Given the description of an element on the screen output the (x, y) to click on. 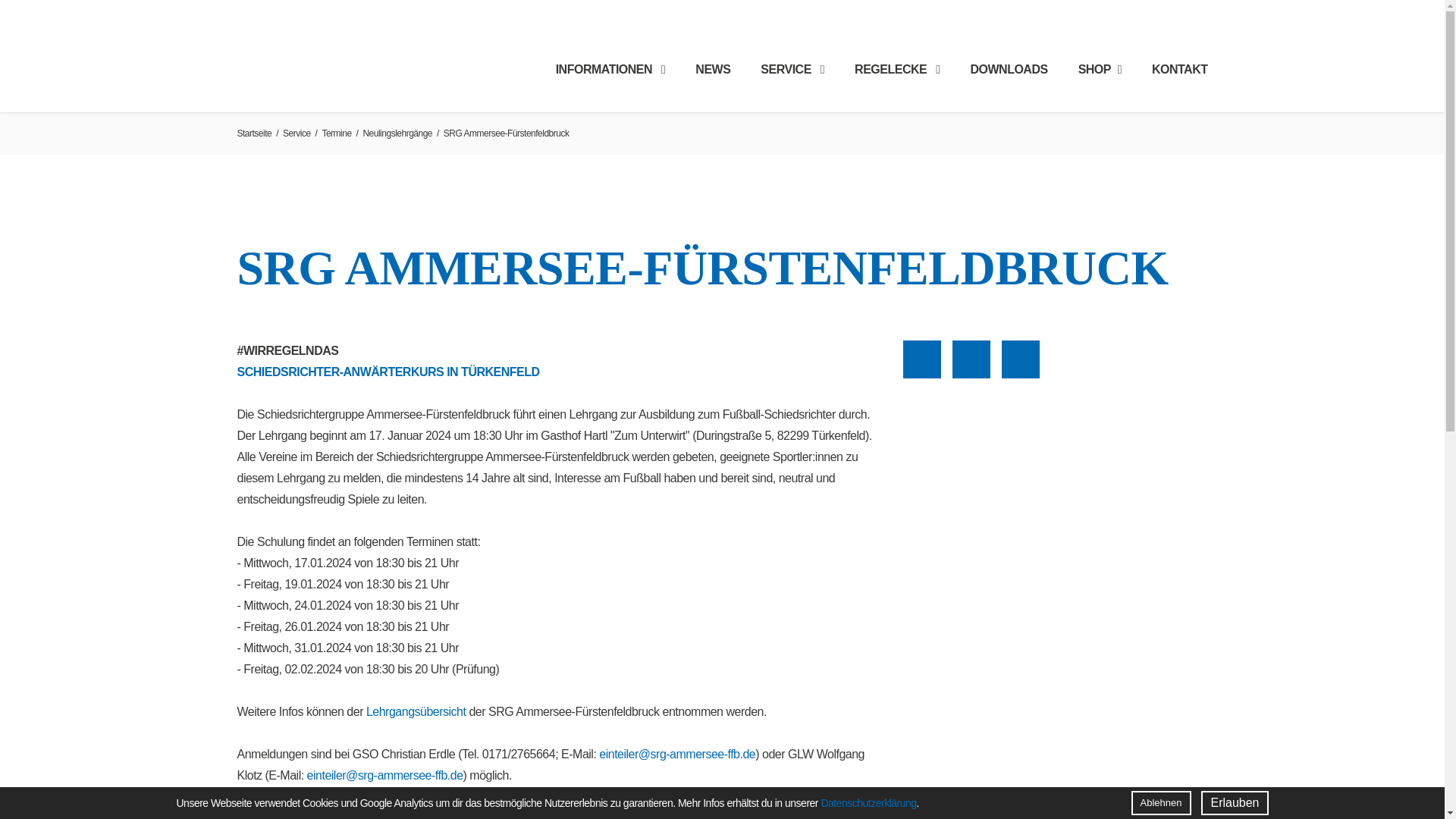
SHOP Element type: text (1099, 68)
DOWNLOADS Element type: text (1008, 68)
INFORMATIONEN Element type: text (610, 68)
einteiler@srg-ammersee-ffb.de Element type: text (385, 775)
KONTAKT Element type: text (1179, 68)
SERVICE Element type: text (792, 68)
Erlauben Element type: text (1234, 802)
Ablehnen Element type: text (1161, 802)
Twitter Element type: text (971, 359)
REGELECKE Element type: text (896, 68)
NEWS Element type: text (712, 68)
Facebook Element type: text (922, 359)
Termine Element type: text (336, 133)
E-Mail Element type: text (1020, 359)
Startseite Element type: text (253, 133)
Service Element type: text (296, 133)
einteiler@srg-ammersee-ffb.de Element type: text (677, 754)
